Given the description of an element on the screen output the (x, y) to click on. 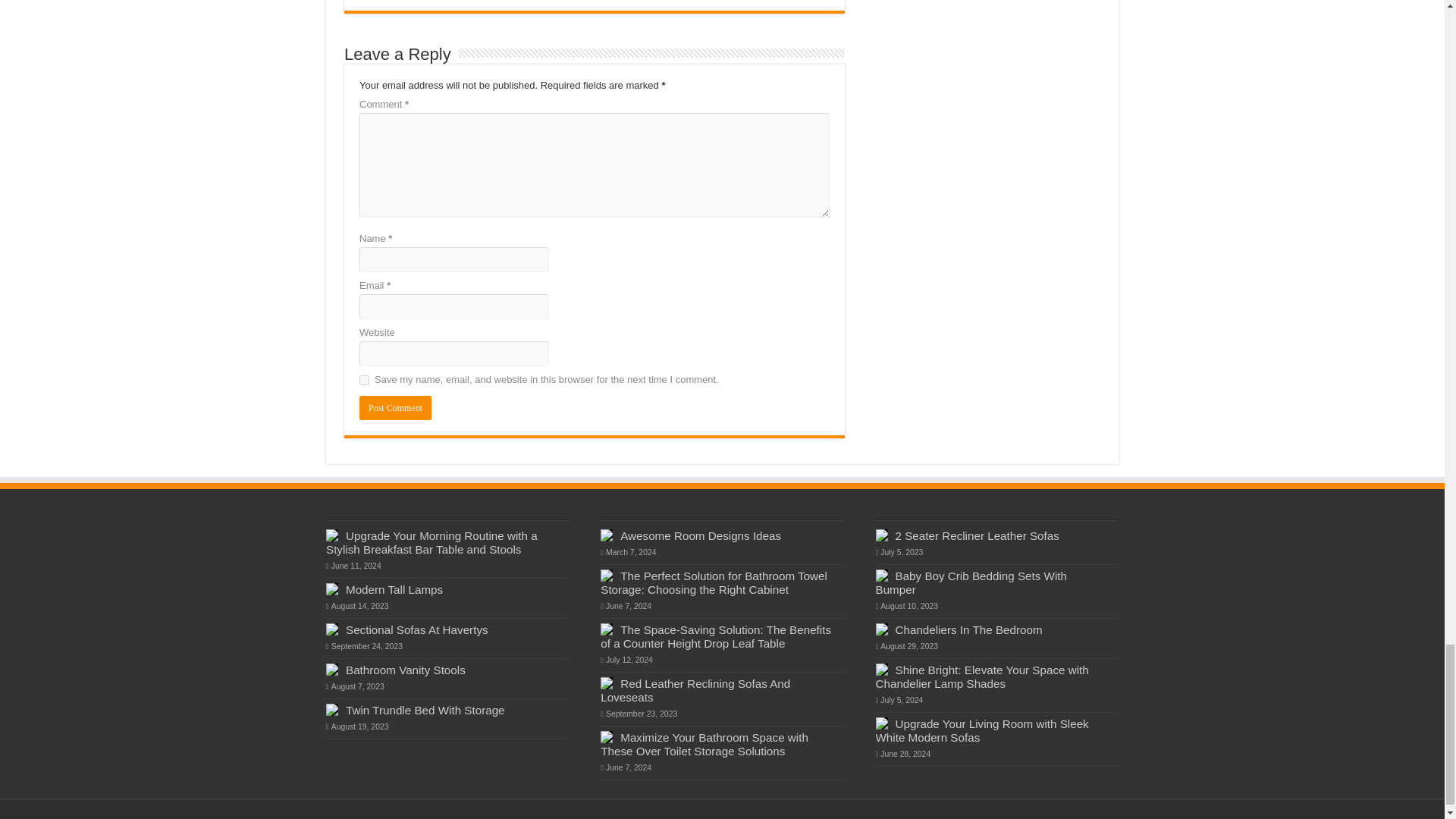
Post Comment (394, 407)
yes (364, 379)
